Given the description of an element on the screen output the (x, y) to click on. 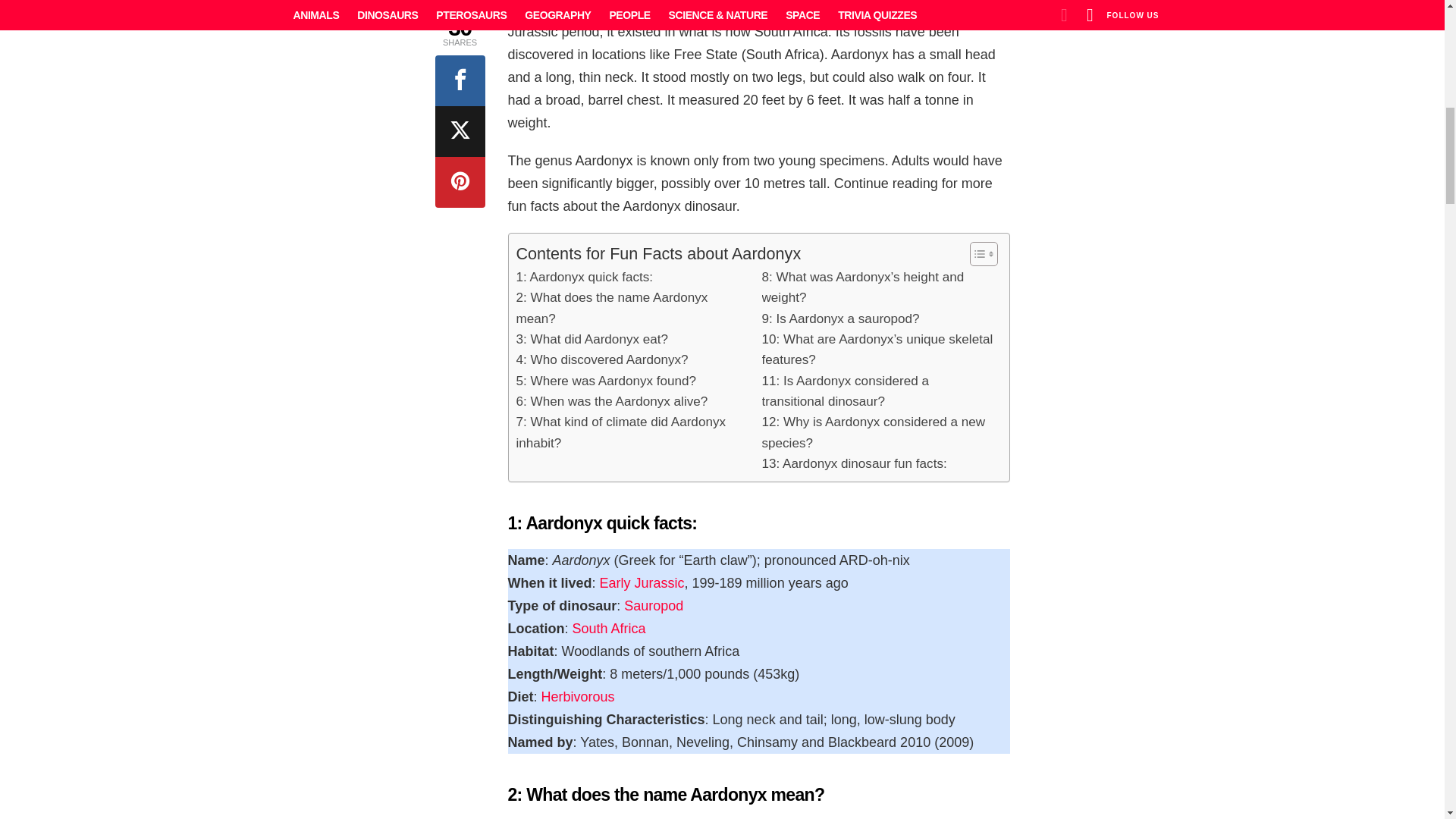
6: When was the Aardonyx alive? (611, 401)
1: Aardonyx quick facts: (583, 276)
7: What kind of climate did Aardonyx inhabit? (631, 432)
6: When was the Aardonyx alive? (611, 401)
2: What does the name Aardonyx mean? (631, 308)
1: Aardonyx quick facts: (583, 276)
dinosaur (621, 8)
4: Who discovered Aardonyx? (601, 359)
3: What did Aardonyx eat? (591, 339)
9: Is Aardonyx a sauropod? (839, 318)
